Given the description of an element on the screen output the (x, y) to click on. 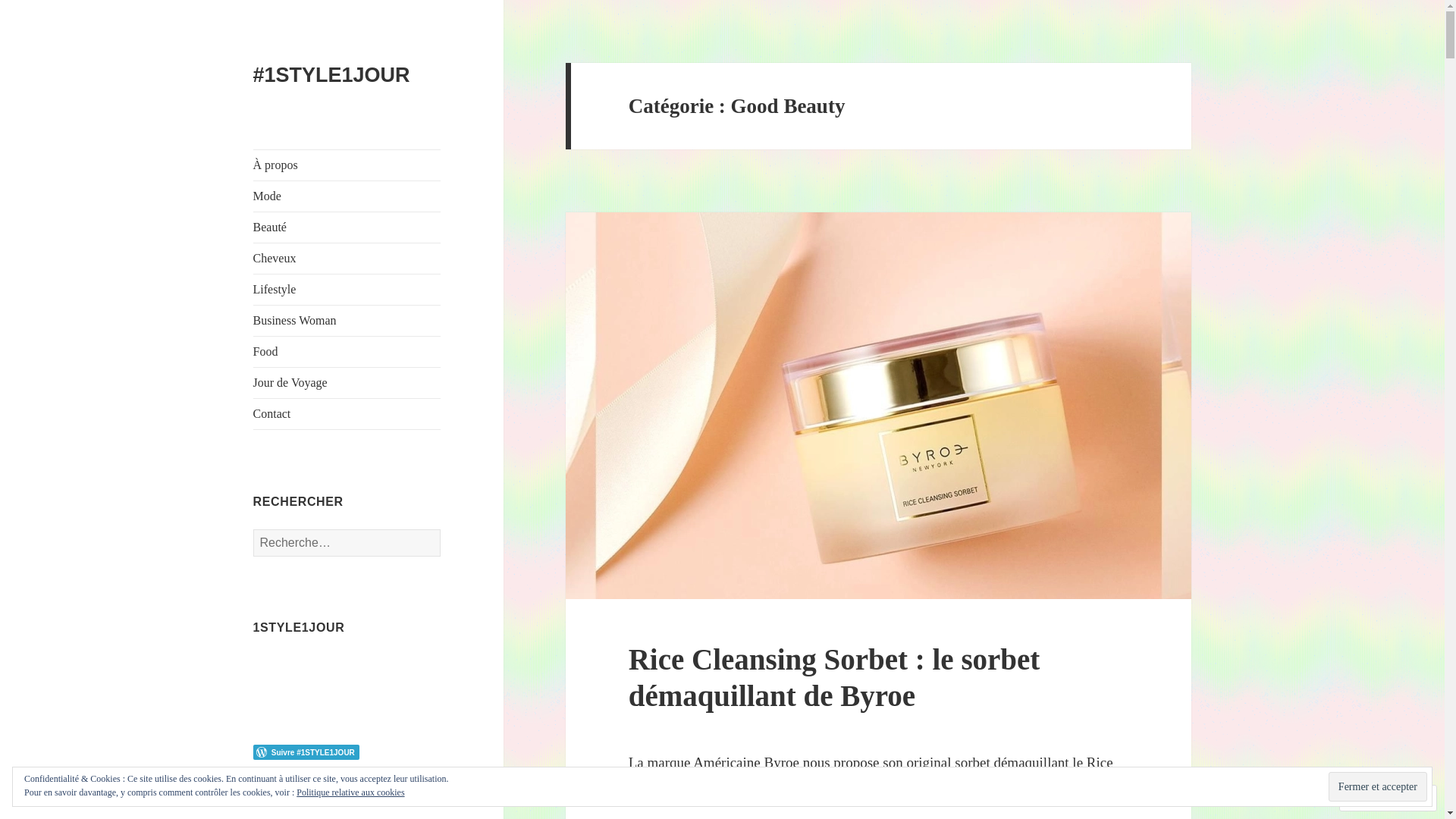
Food Element type: text (347, 351)
Politique relative aux cookies Element type: text (350, 792)
Suivre Element type: text (1373, 797)
Cheveux Element type: text (347, 258)
Lifestyle Element type: text (347, 289)
Fermer et accepter Element type: text (1377, 786)
Jour de Voyage Element type: text (347, 382)
Business Woman Element type: text (347, 320)
#1STYLE1JOUR Element type: text (331, 74)
Mode Element type: text (347, 196)
Contact Element type: text (347, 413)
